Given the description of an element on the screen output the (x, y) to click on. 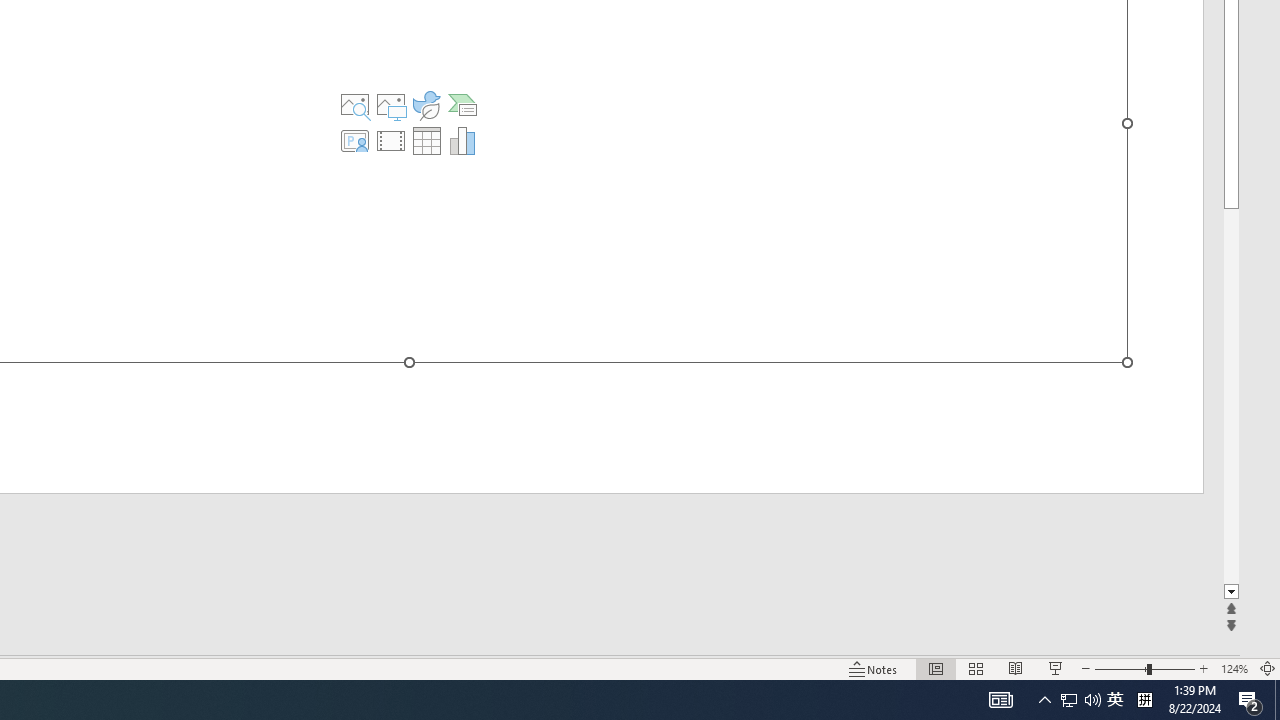
Zoom 124% (1234, 668)
